Given the description of an element on the screen output the (x, y) to click on. 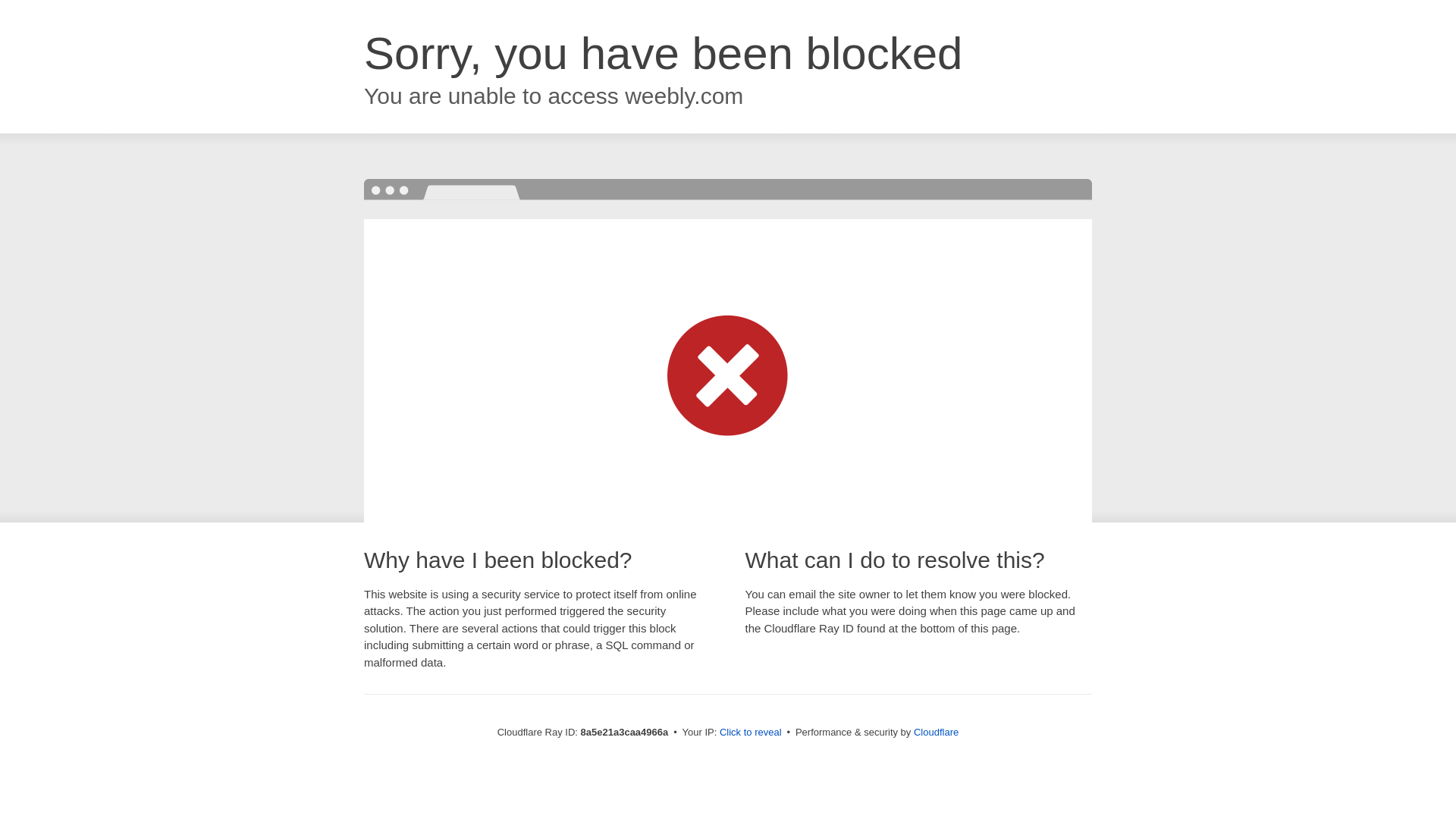
Click to reveal (750, 732)
Cloudflare (936, 731)
